Given the description of an element on the screen output the (x, y) to click on. 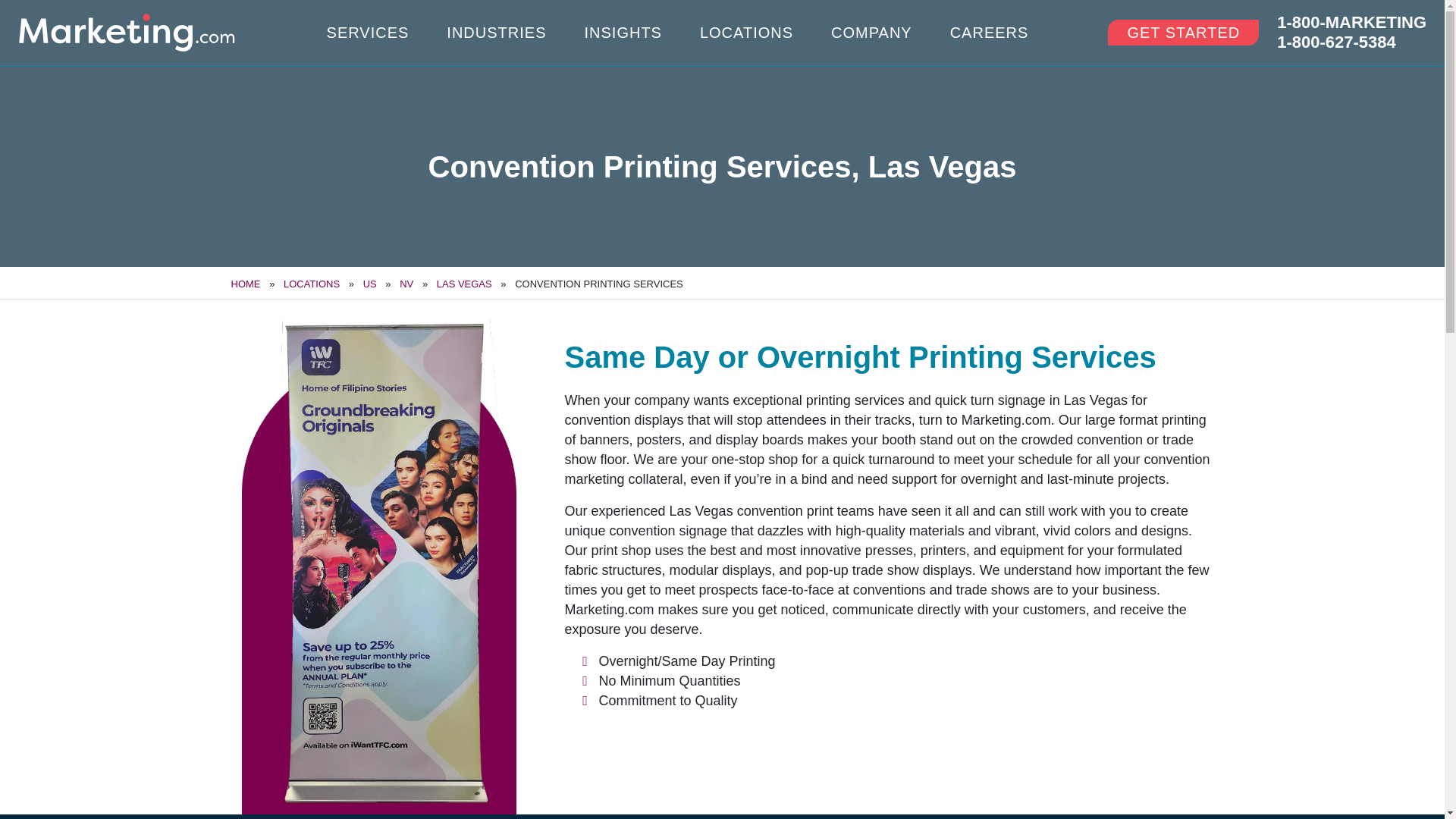
SERVICES (367, 32)
GET STARTED (1183, 32)
